Given the description of an element on the screen output the (x, y) to click on. 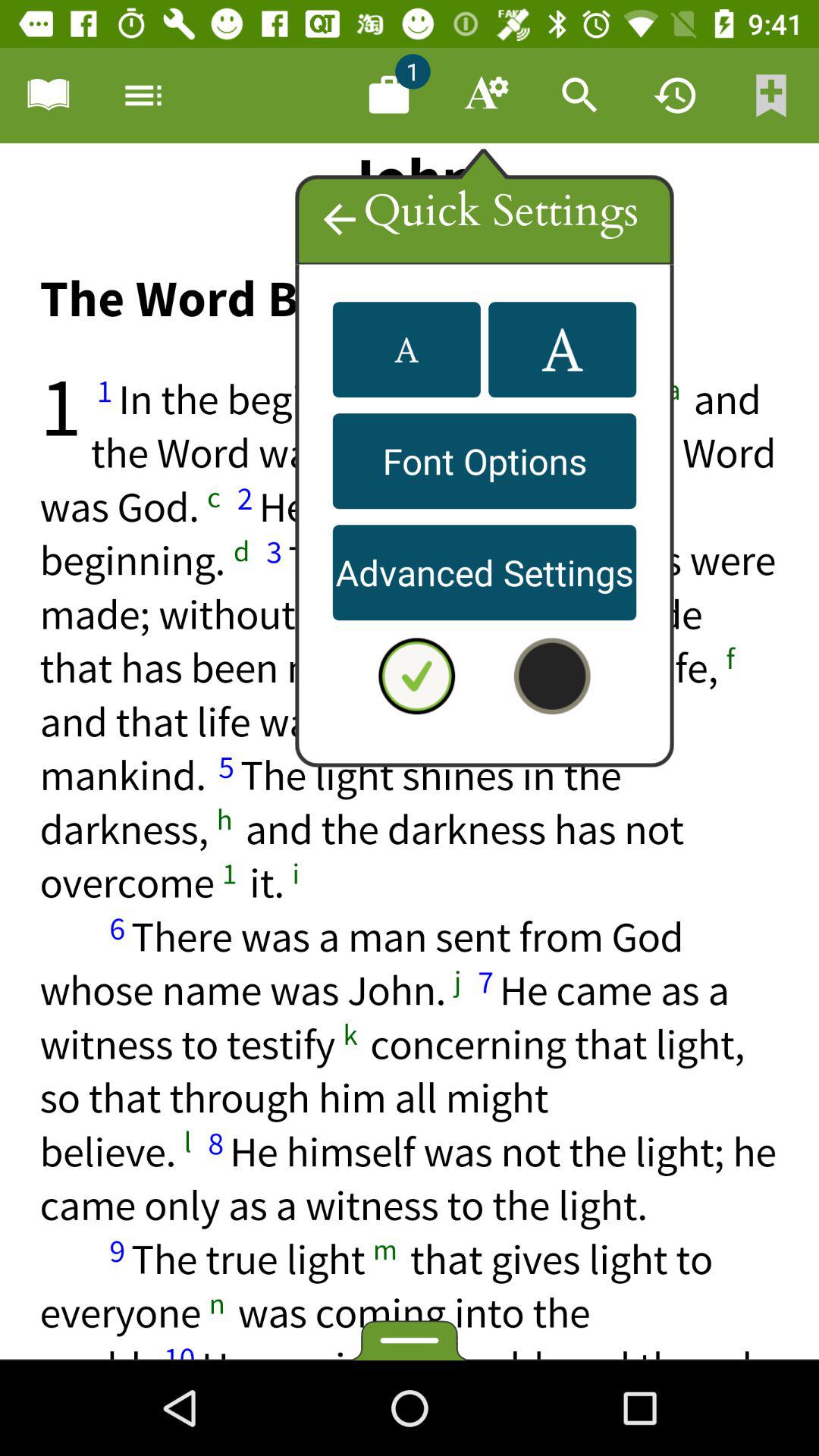
deselect quick settings (416, 676)
